Given the description of an element on the screen output the (x, y) to click on. 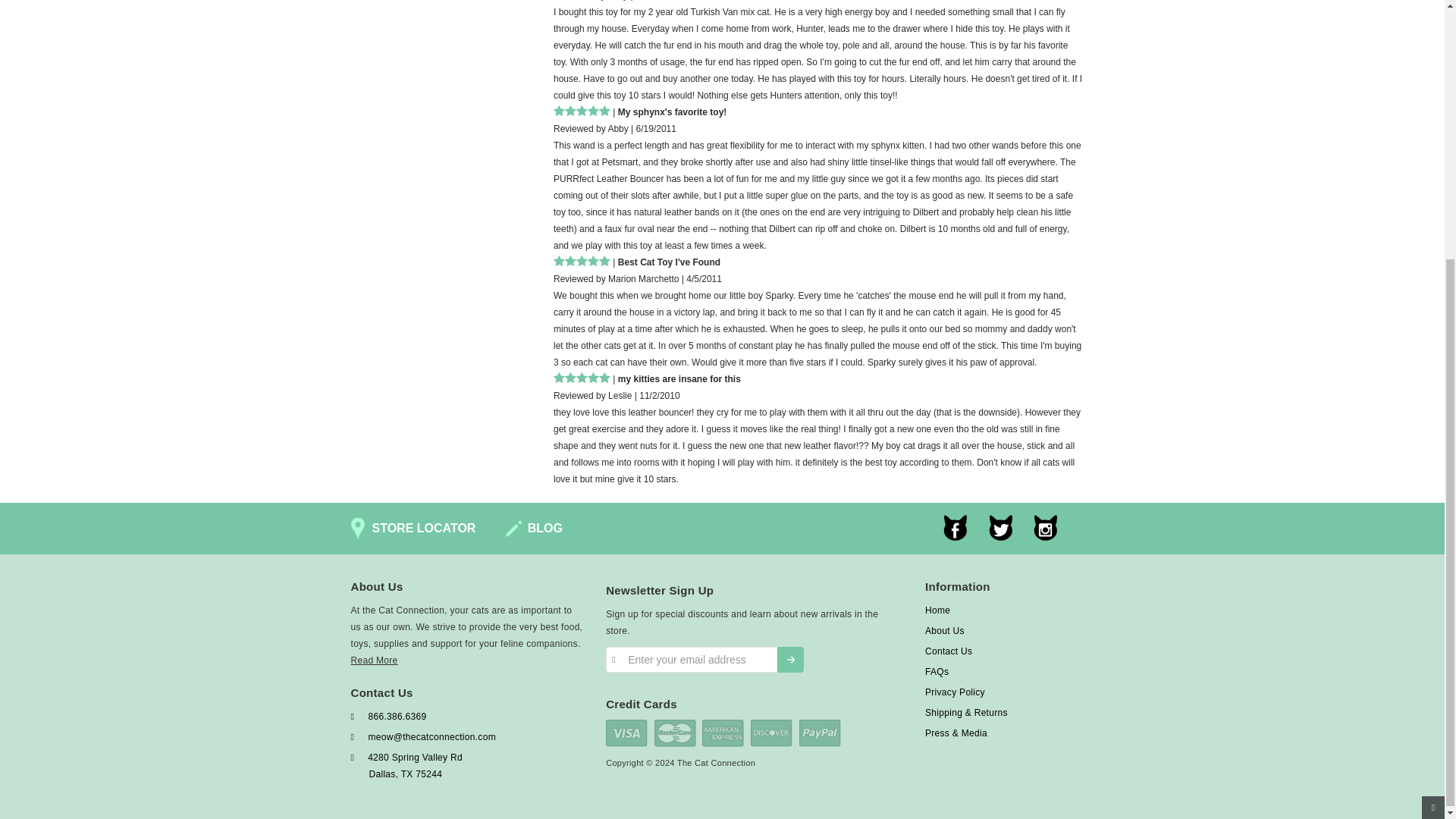
Sign Up (790, 659)
